Given the description of an element on the screen output the (x, y) to click on. 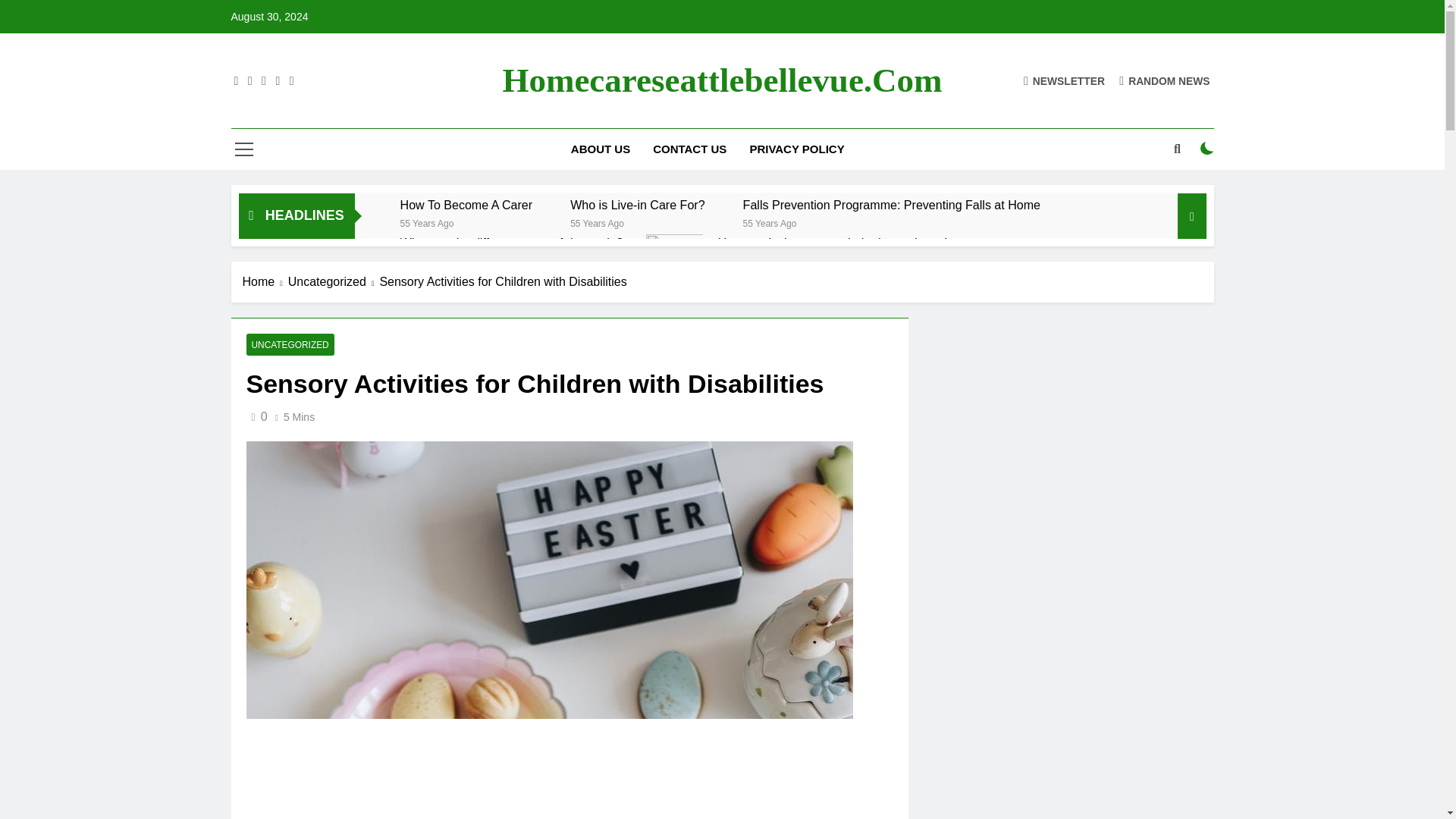
ABOUT US (600, 148)
55 Years Ago (427, 222)
What are the different types of dementia? (511, 242)
How music therapy can help dementia patients (674, 262)
Home (265, 281)
How To Become A Carer (466, 205)
How To Become A Carer (466, 205)
RANDOM NEWS (1164, 80)
How music therapy can help dementia patients (844, 242)
Uncategorized (334, 281)
